Given the description of an element on the screen output the (x, y) to click on. 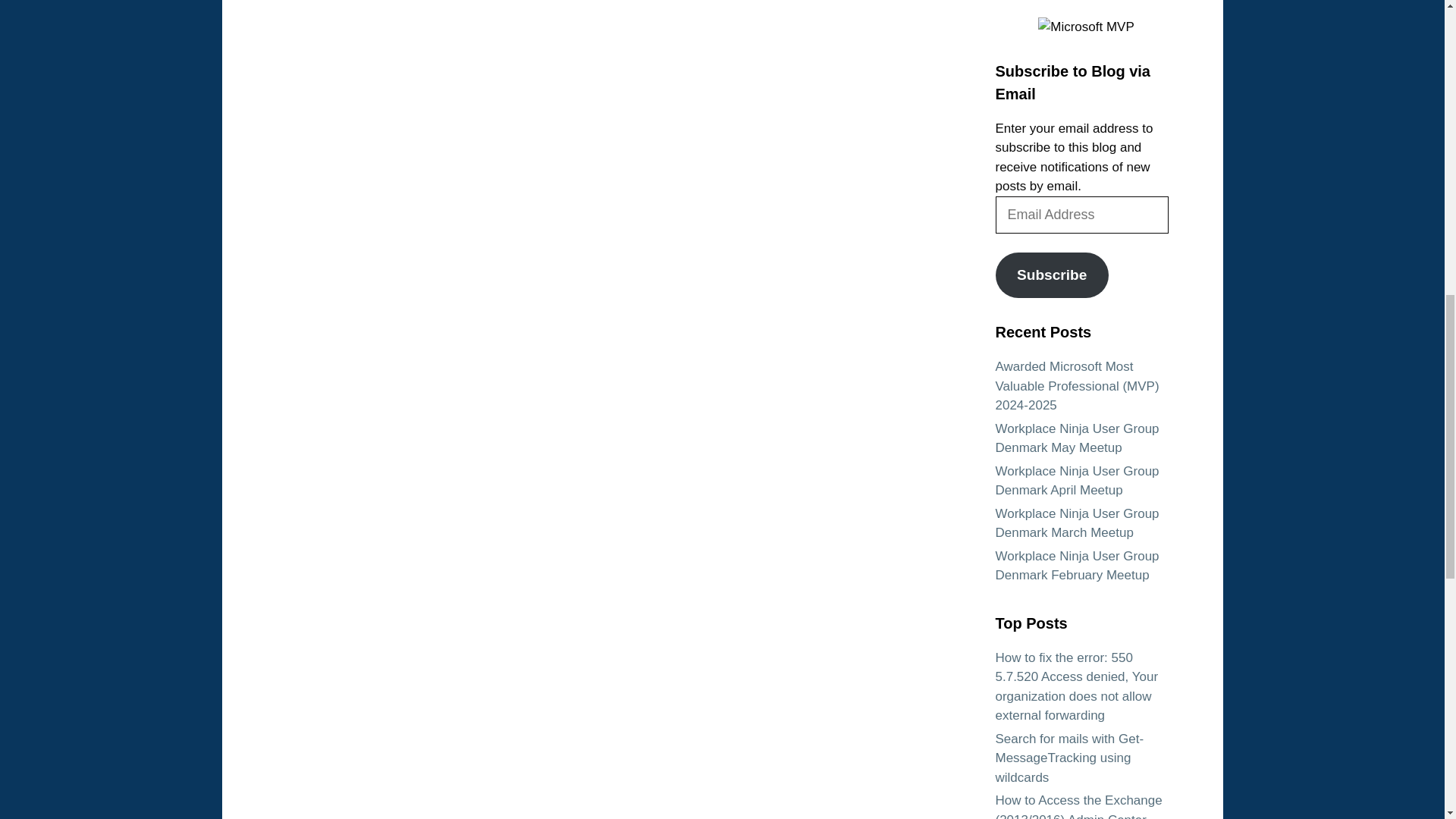
Workplace Ninja User Group Denmark April Meetup (1076, 480)
Search for mails with Get-MessageTracking using wildcards (1068, 758)
Subscribe (1051, 275)
Workplace Ninja User Group Denmark March Meetup (1076, 523)
Workplace Ninja User Group Denmark February Meetup (1076, 565)
Workplace Ninja User Group Denmark May Meetup (1076, 438)
